Given the description of an element on the screen output the (x, y) to click on. 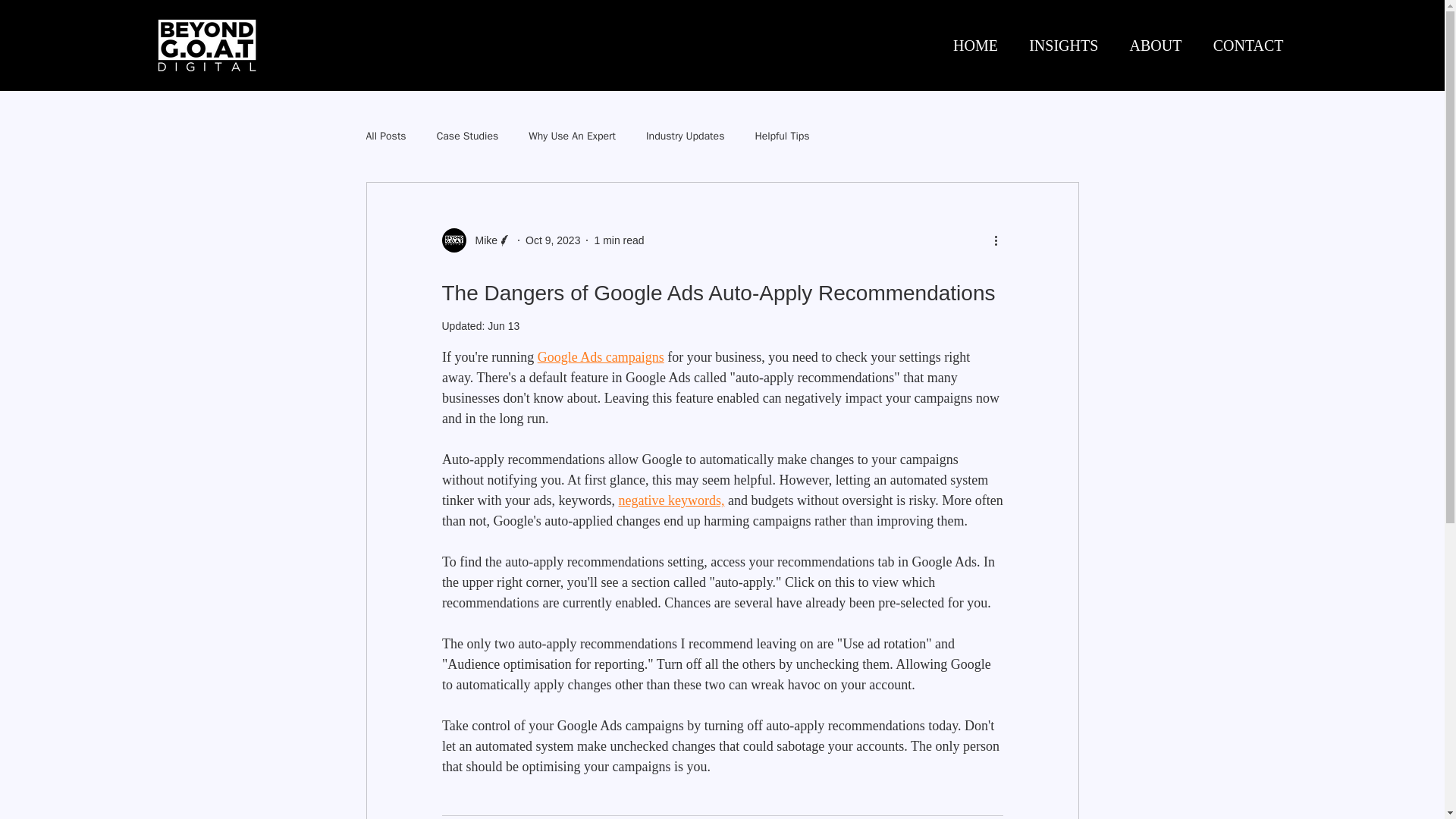
INSIGHTS (1058, 45)
Industry Updates (684, 136)
HOME (971, 45)
Mike (481, 239)
Jun 13 (503, 326)
All Posts (385, 136)
CONTACT (1242, 45)
ABOUT (1150, 45)
Helpful Tips (781, 136)
Case Studies (467, 136)
Why Use An Expert (571, 136)
negative keywords, (670, 500)
1 min read (618, 239)
Oct 9, 2023 (552, 239)
Google Ads campaigns (600, 356)
